Given the description of an element on the screen output the (x, y) to click on. 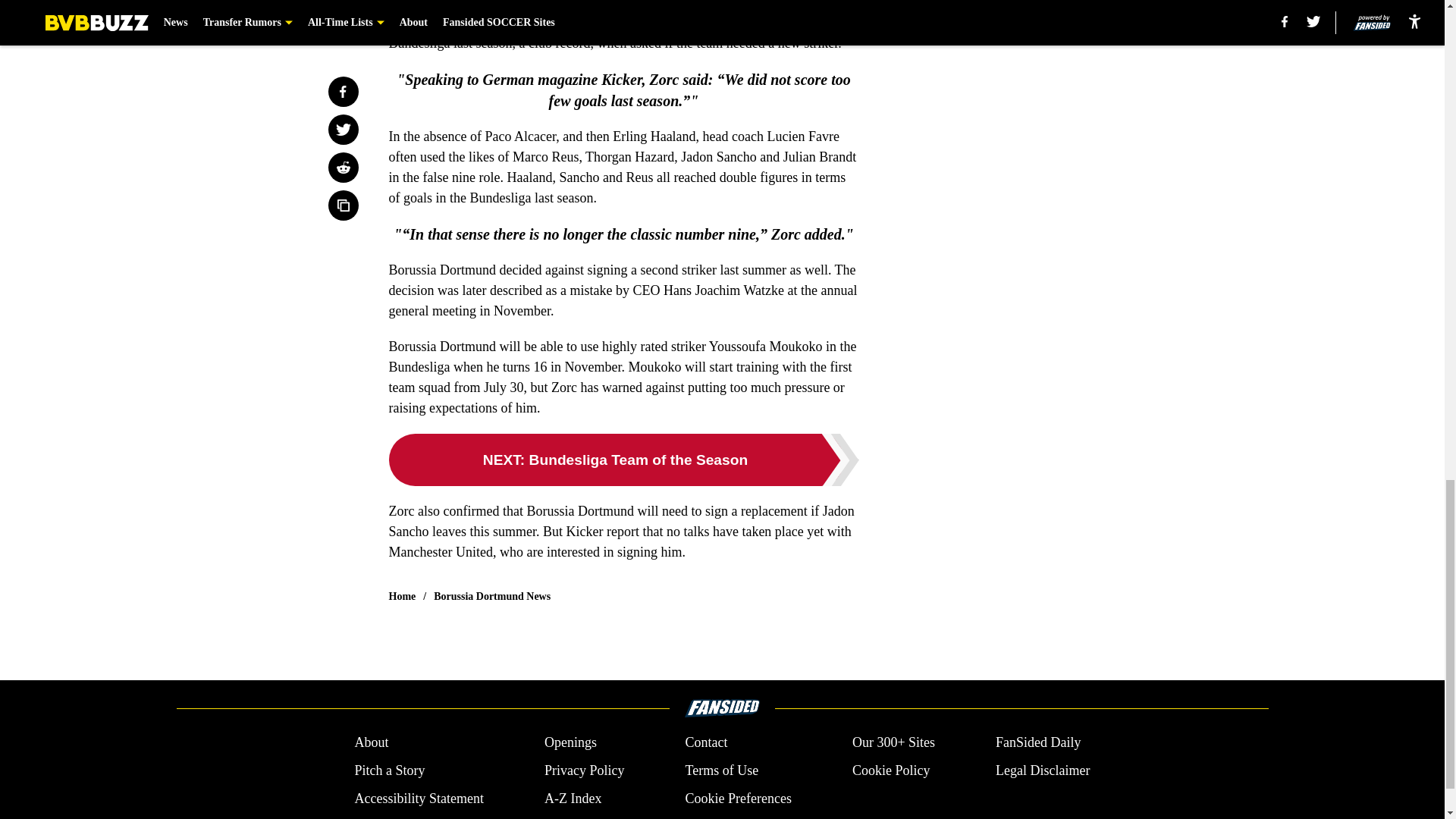
Contact (705, 742)
About (370, 742)
NEXT: Bundesliga Team of the Season (623, 460)
FanSided Daily (1038, 742)
Terms of Use (721, 770)
Legal Disclaimer (1042, 770)
Privacy Policy (584, 770)
Borussia Dortmund News (491, 596)
Pitch a Story (389, 770)
Accessibility Statement (418, 798)
